Given the description of an element on the screen output the (x, y) to click on. 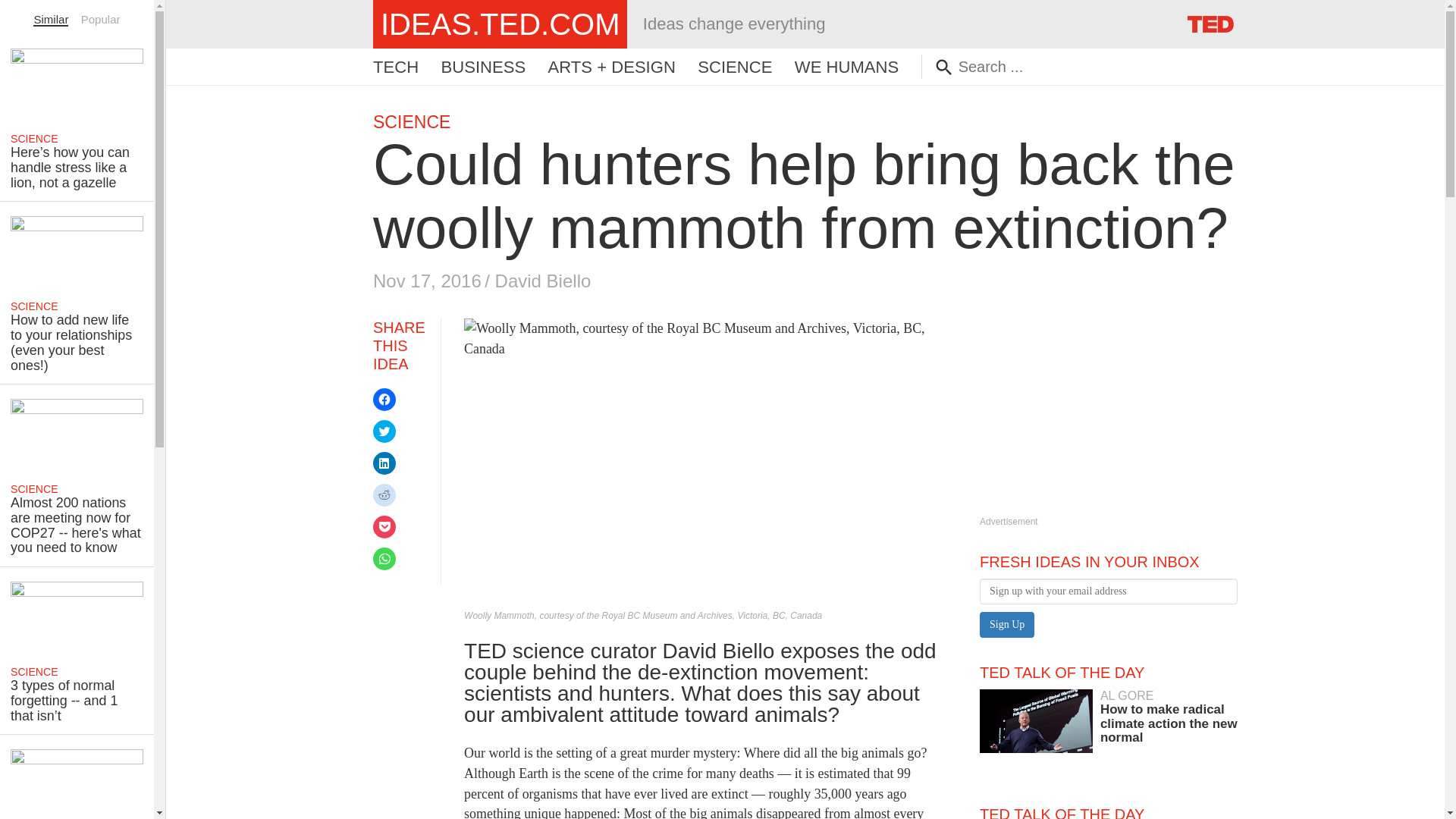
Click to share on LinkedIn (1108, 717)
Click to share on Twitter (384, 463)
Similar (384, 431)
SCIENCE (50, 19)
IDEAS.TED.COM (734, 66)
TECH (499, 24)
Search (395, 66)
Click to share on Reddit (29, 11)
BUSINESS (384, 495)
